Given the description of an element on the screen output the (x, y) to click on. 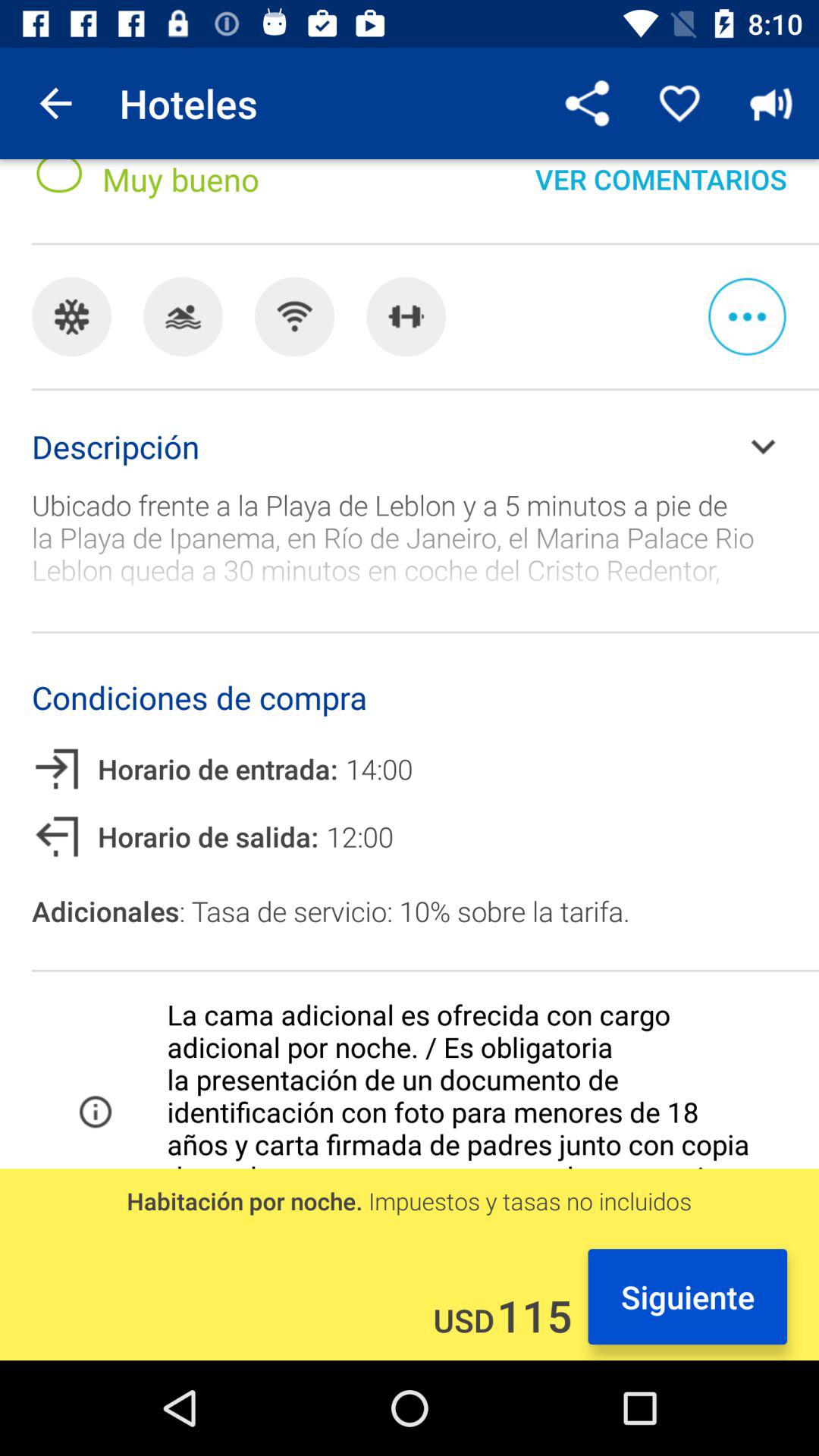
choose the icon above 8 (55, 103)
